Given the description of an element on the screen output the (x, y) to click on. 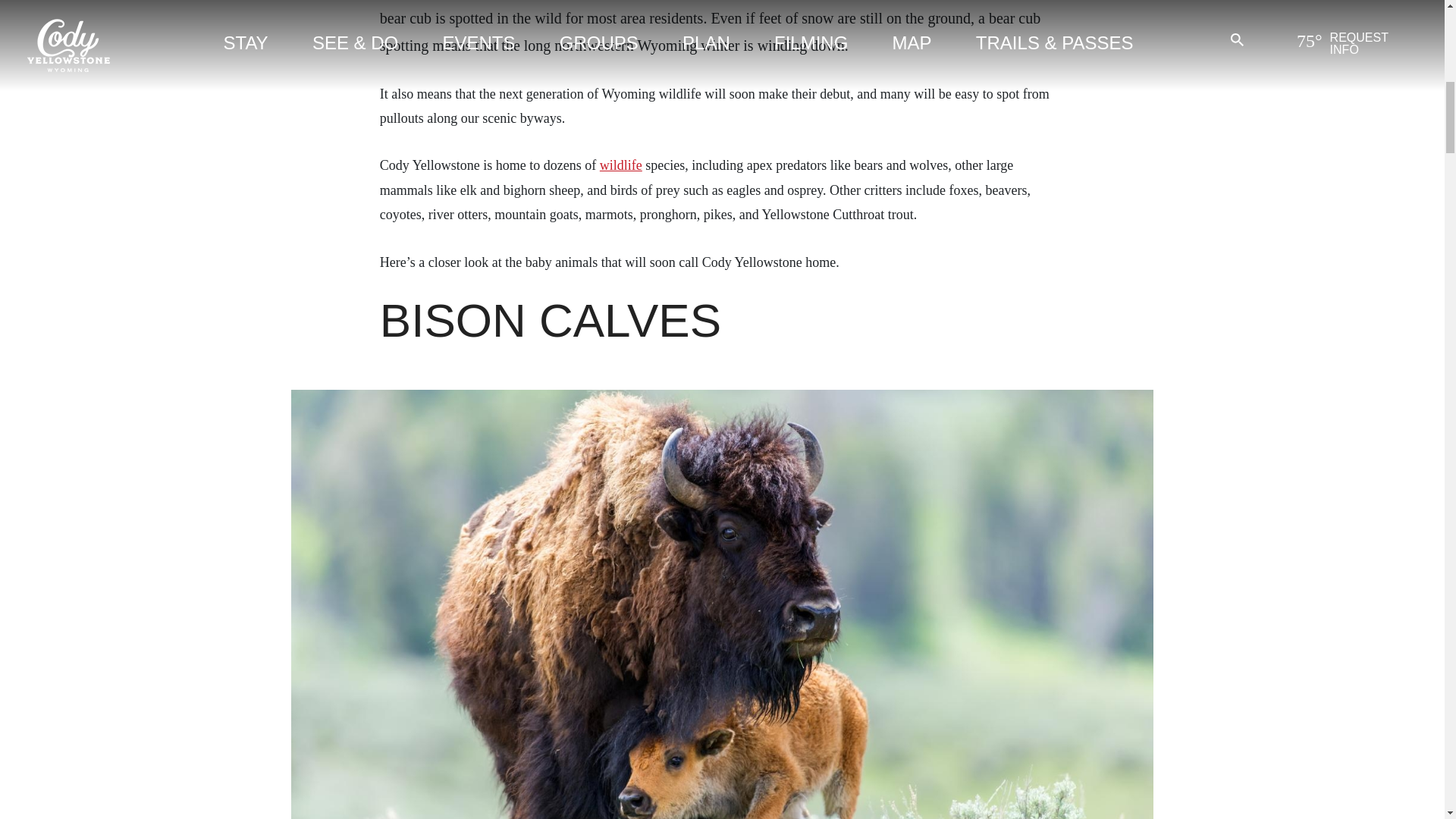
wildlife (620, 165)
